Given the description of an element on the screen output the (x, y) to click on. 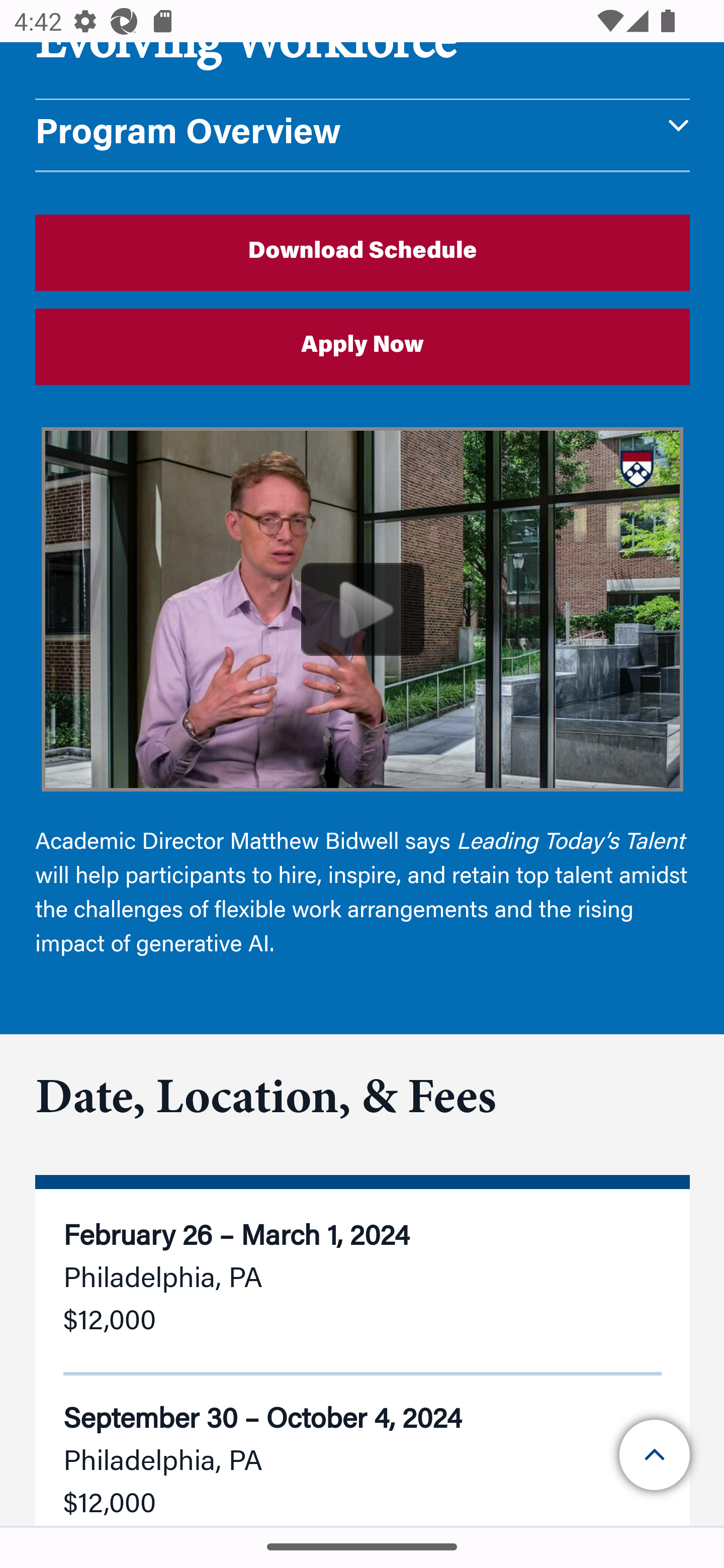
Program Overview  (362, 136)
Download Schedule (363, 252)
Apply Now (363, 346)
Play video content LEAD Overview - Matthew Bidwell (363, 609)
 (655, 1455)
